Given the description of an element on the screen output the (x, y) to click on. 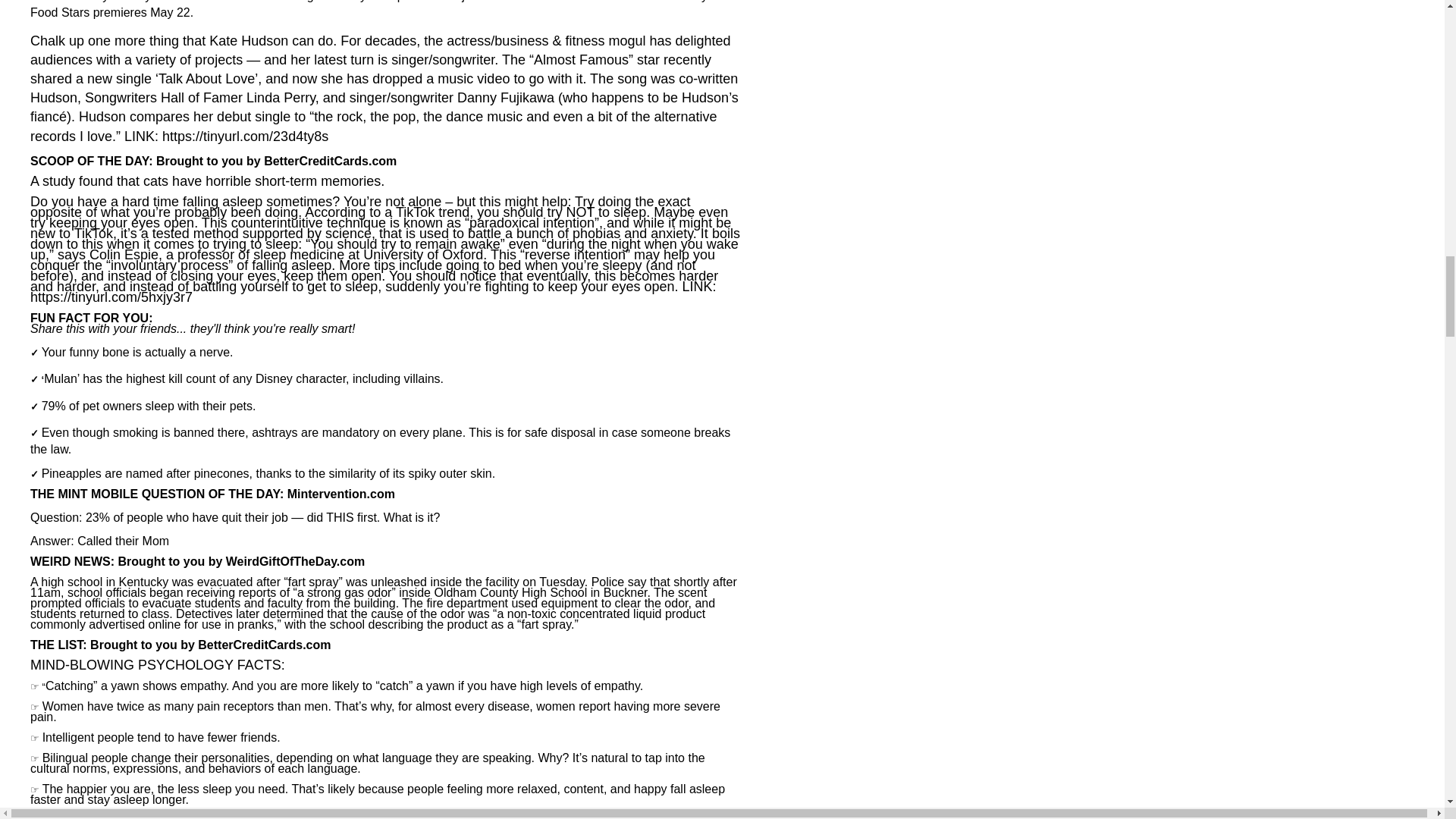
WeirdGiftOfTheDay.com (295, 562)
Mintervention.com (340, 493)
BetterCreditCards.com (329, 161)
BetterCreditCards.com (264, 645)
